Given the description of an element on the screen output the (x, y) to click on. 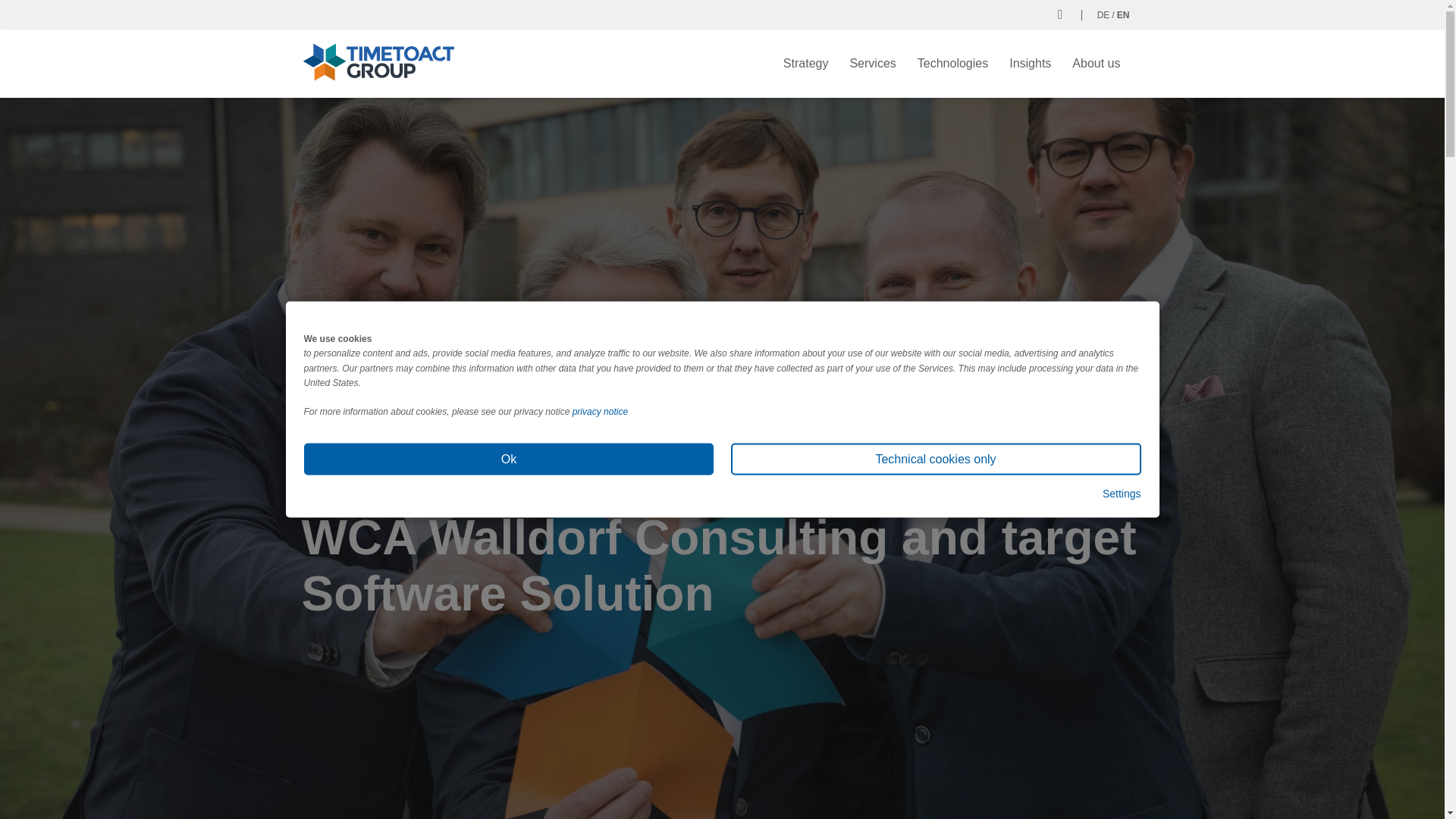
EN (1122, 14)
DE (1103, 14)
TIMETOACT GROUP (378, 61)
